Given the description of an element on the screen output the (x, y) to click on. 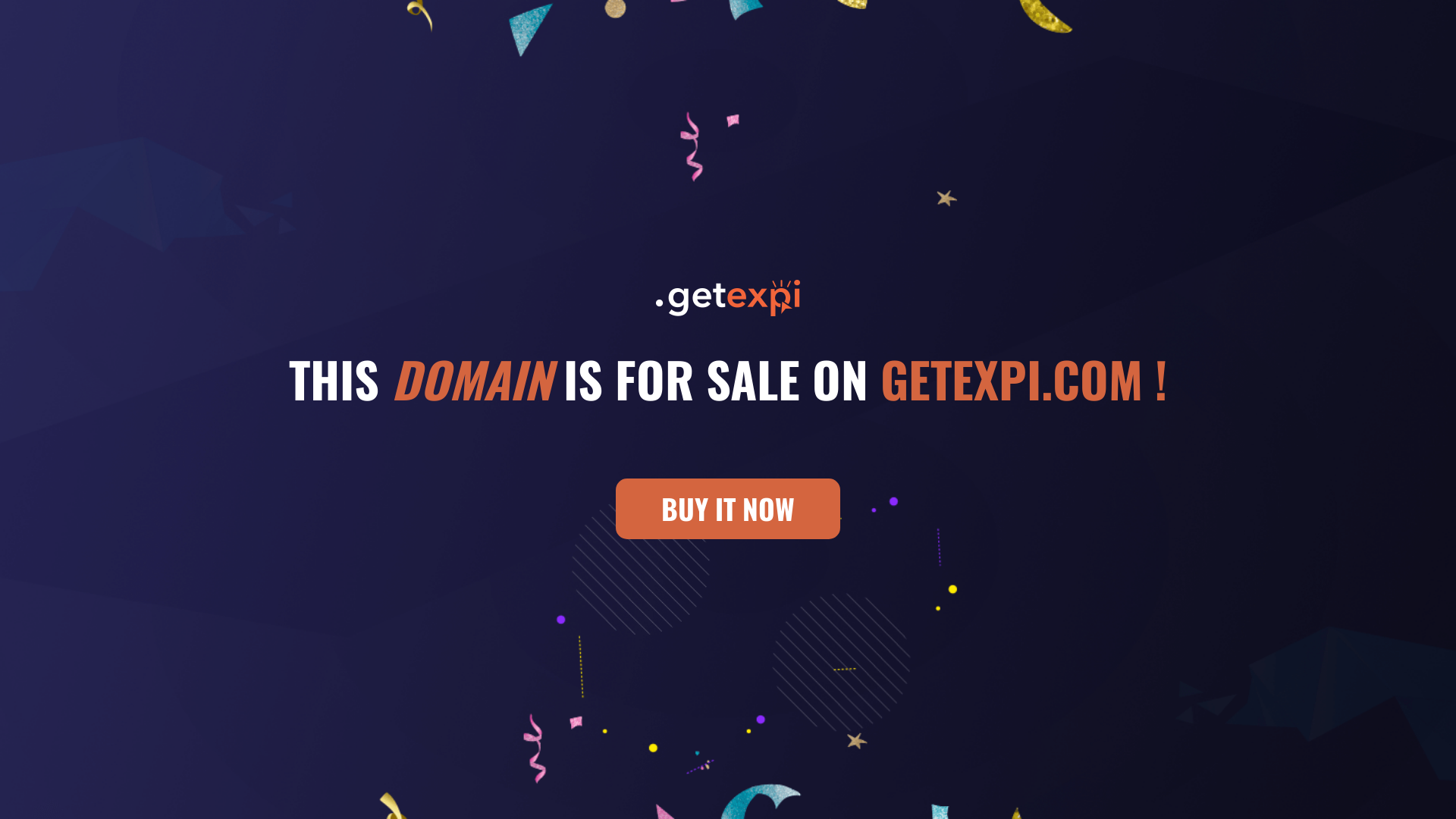
GETEXPI.COM ! Element type: text (1023, 378)
BUY IT NOW Element type: text (727, 508)
BUY IT NOW Element type: text (727, 515)
